Given the description of an element on the screen output the (x, y) to click on. 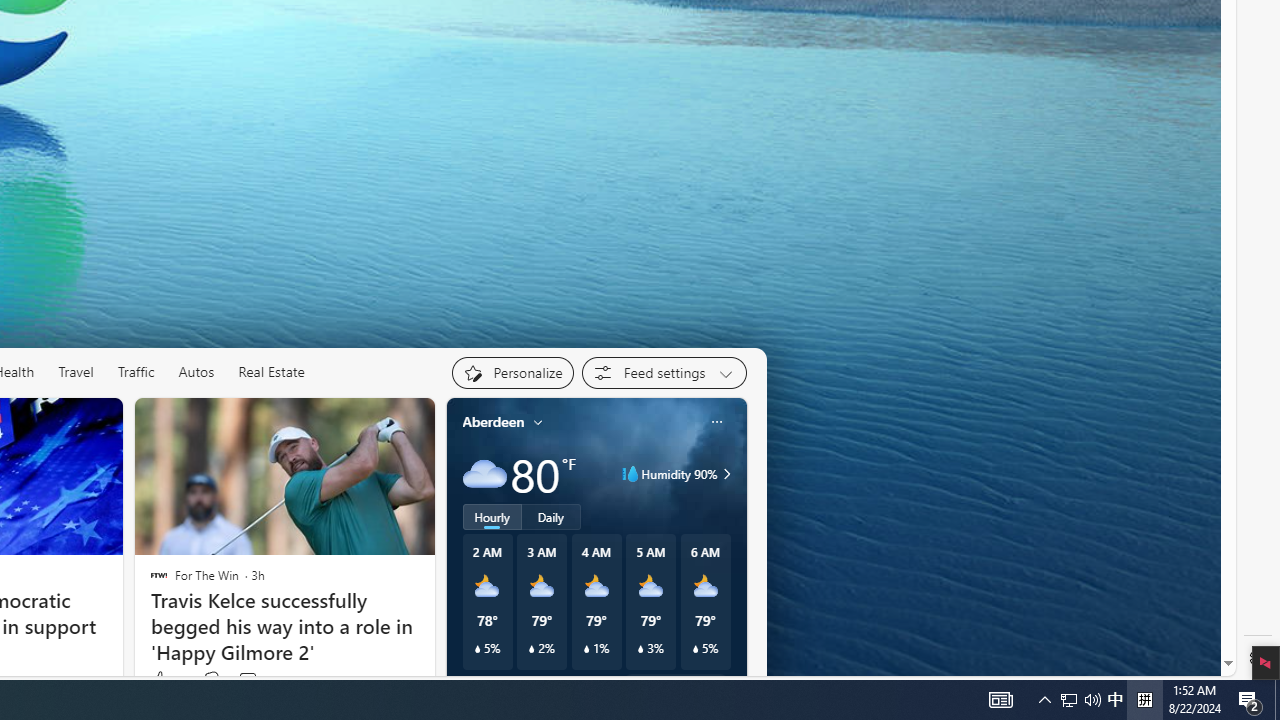
Humidity 90% (723, 474)
Class: weather-current-precipitation-glyph (695, 649)
Autos (196, 371)
Class: icon-img (715, 421)
Daily (550, 516)
Hourly (492, 516)
Cloudy (484, 474)
Aberdeen (493, 422)
Real Estate (271, 371)
Personalize your feed" (511, 372)
